Given the description of an element on the screen output the (x, y) to click on. 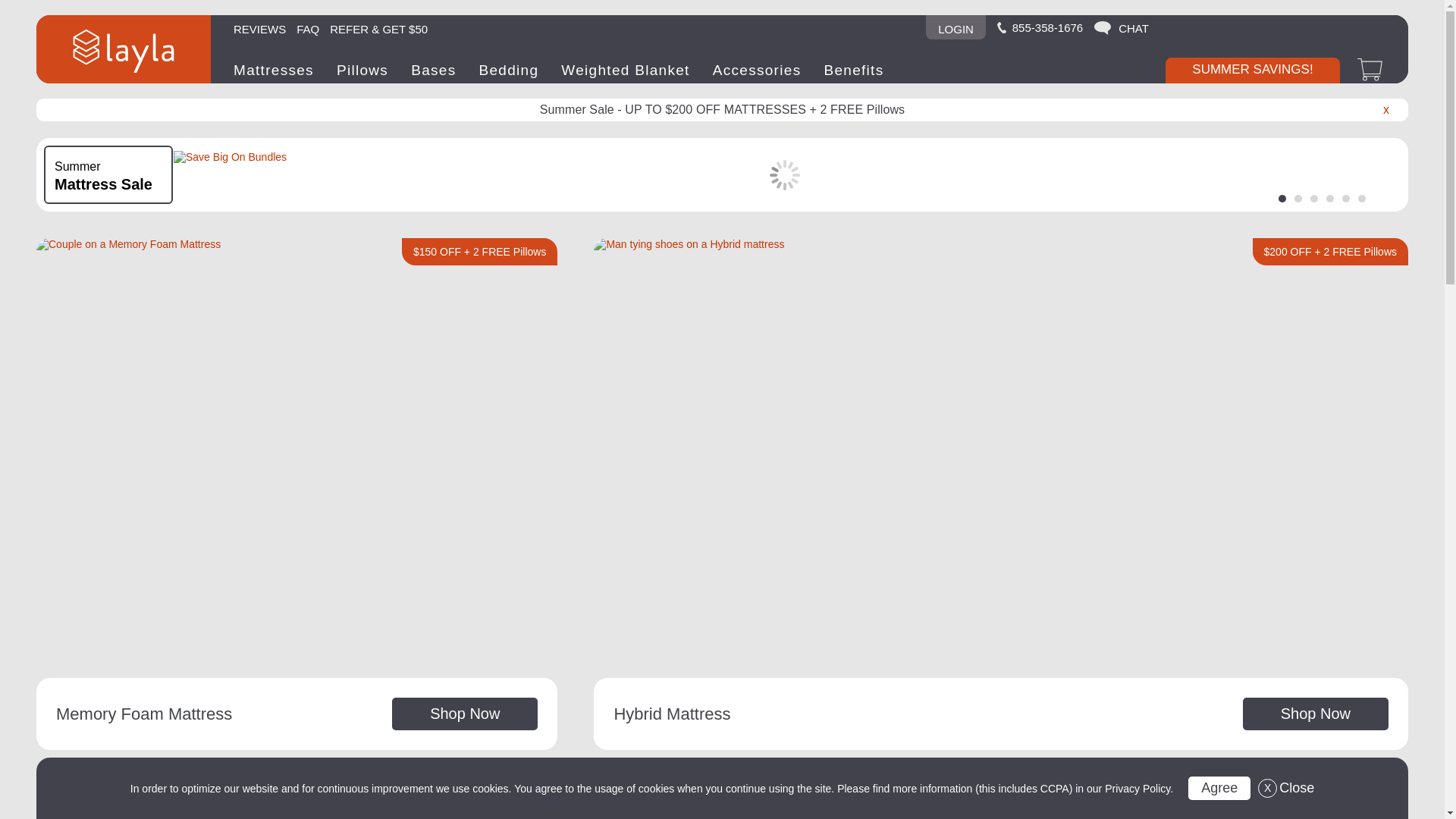
Agree (1219, 788)
CHAT (1121, 28)
Mattresses (273, 70)
Bases (1285, 787)
FAQ (432, 70)
Bedding (307, 27)
REVIEWS (508, 70)
Accessories (258, 27)
Pillows (757, 70)
Privacy Policy (362, 70)
855-358-1676 (1137, 788)
LOGIN (1040, 27)
Weighted Blanket (955, 27)
